Given the description of an element on the screen output the (x, y) to click on. 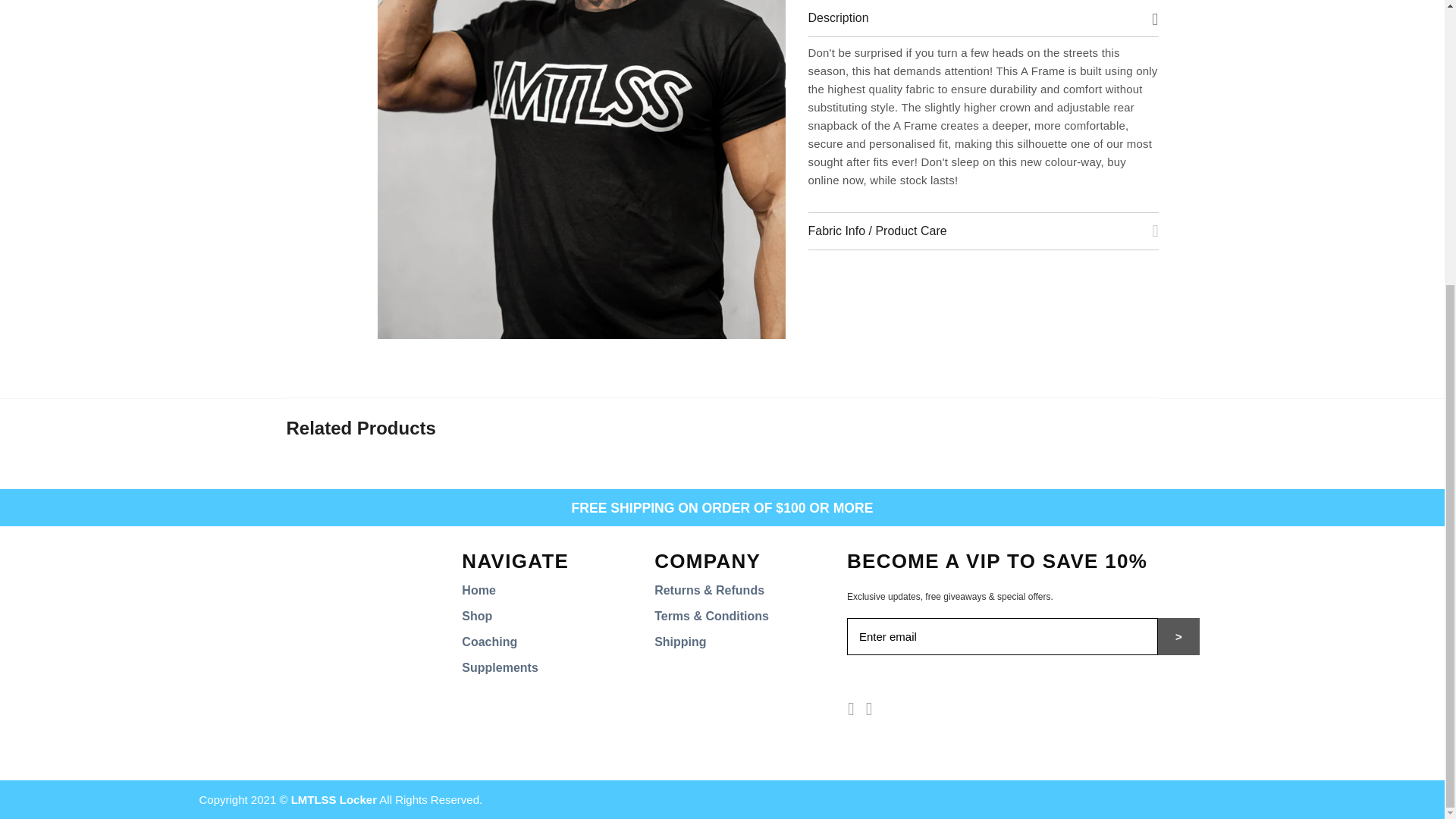
Home (478, 589)
Description (983, 18)
Shop (476, 616)
Coaching (488, 641)
